Given the description of an element on the screen output the (x, y) to click on. 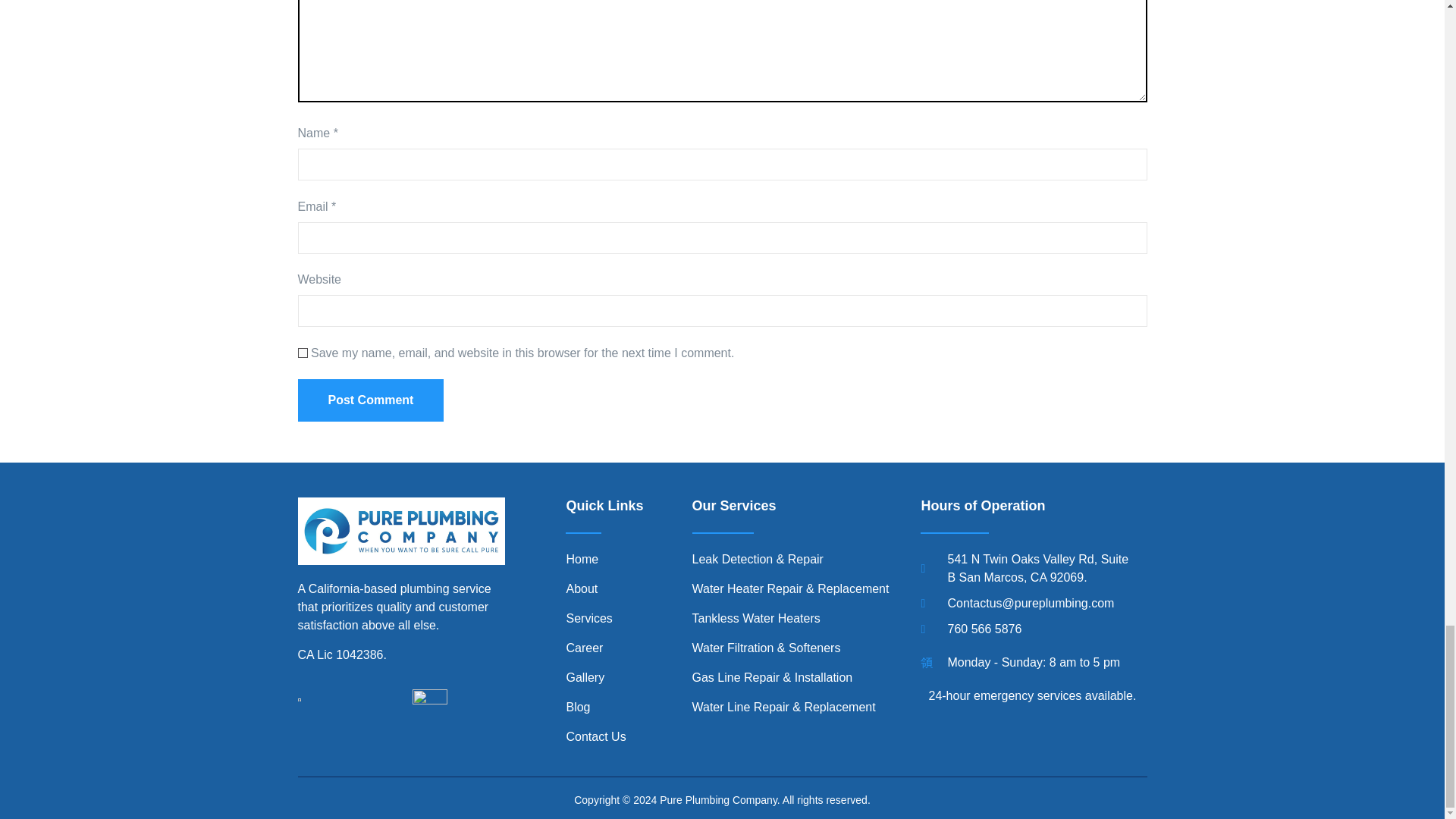
Post Comment (370, 400)
